Given the description of an element on the screen output the (x, y) to click on. 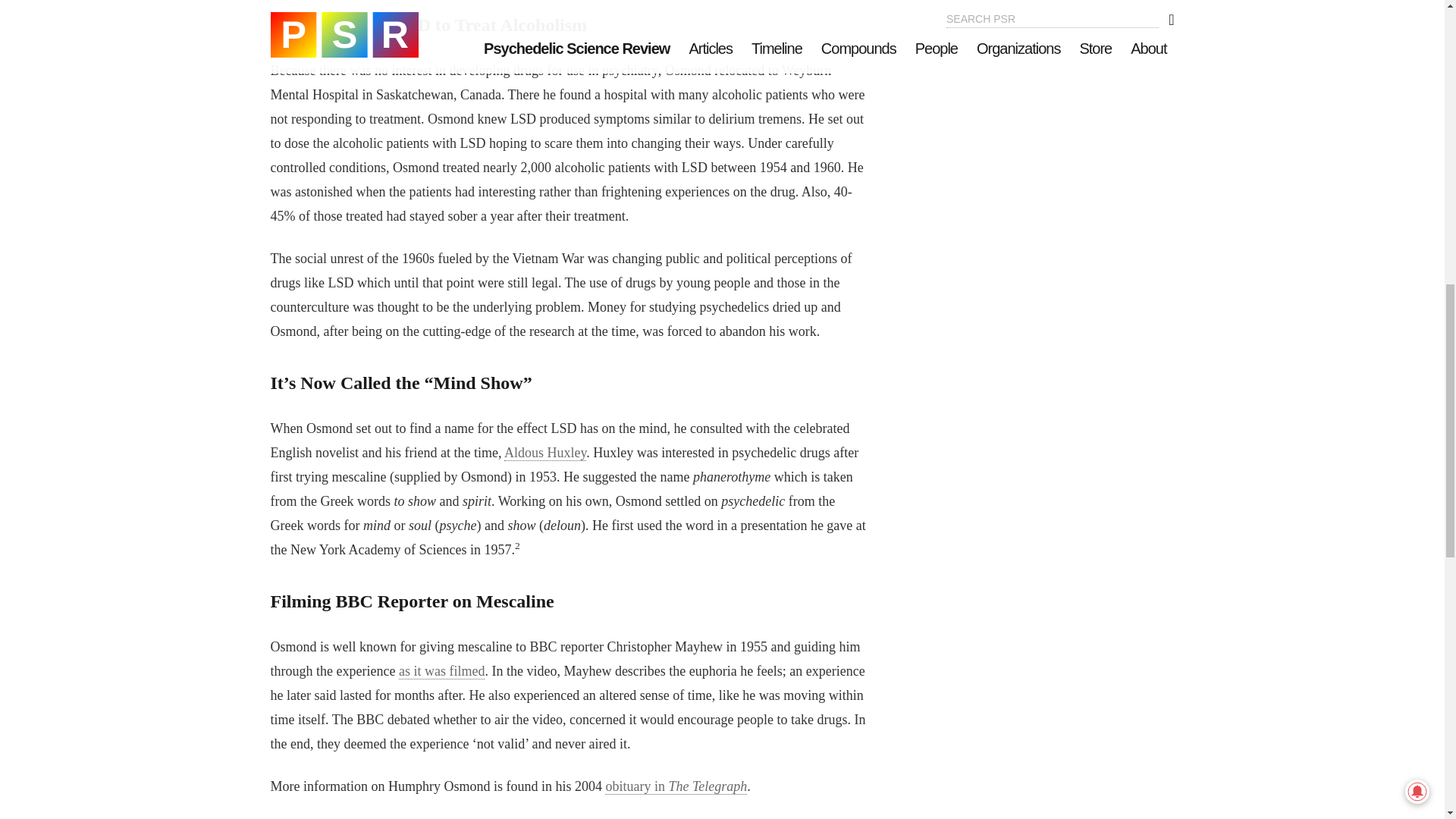
Aldous Huxley (544, 453)
as it was filmed (441, 671)
obituary in The Telegraph (675, 786)
